Given the description of an element on the screen output the (x, y) to click on. 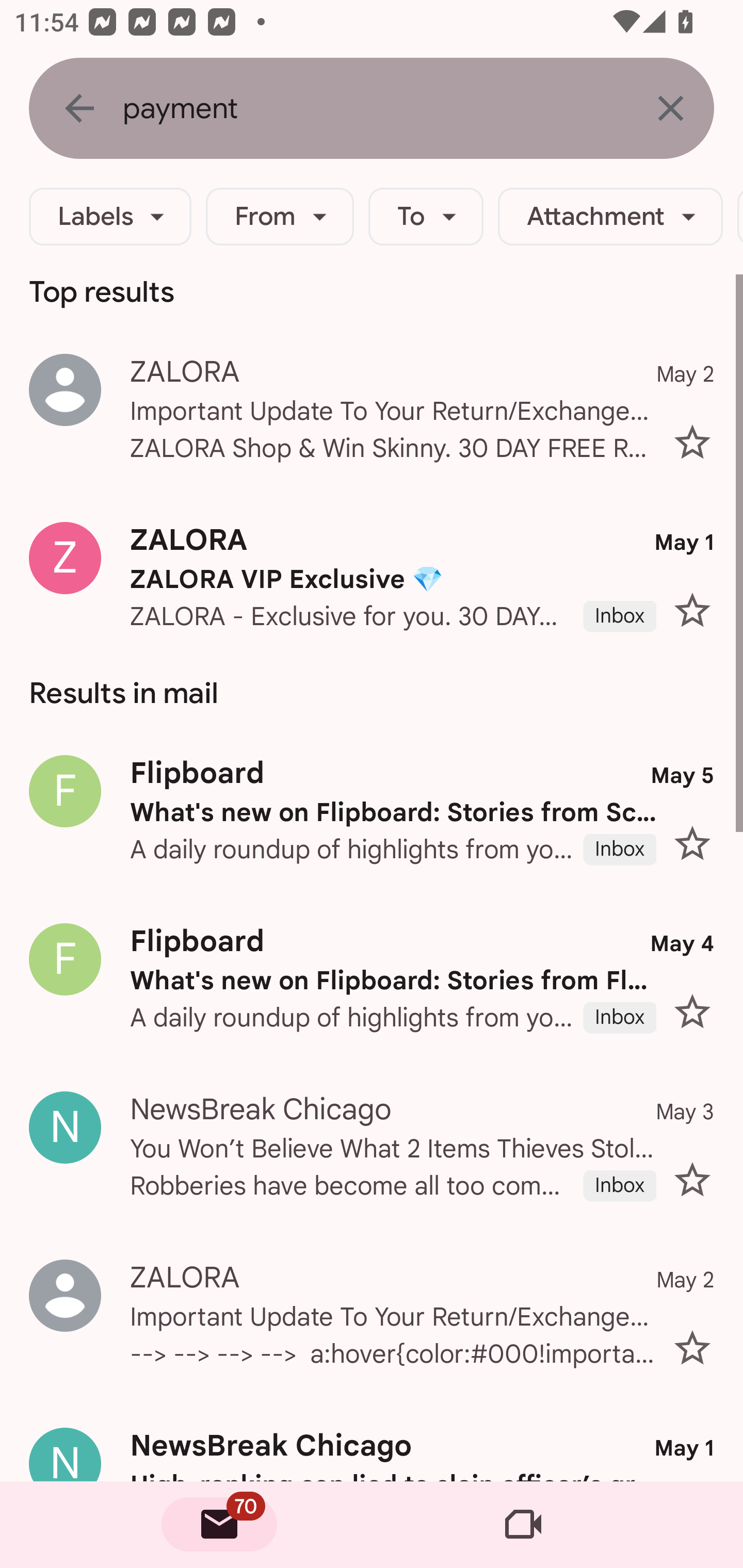
payment Navigate up payment Clear search text (371, 108)
Navigate up (79, 108)
Clear search text (670, 108)
Labels (109, 217)
From (279, 217)
To (425, 217)
Attachment (609, 217)
Meet (523, 1524)
